Given the description of an element on the screen output the (x, y) to click on. 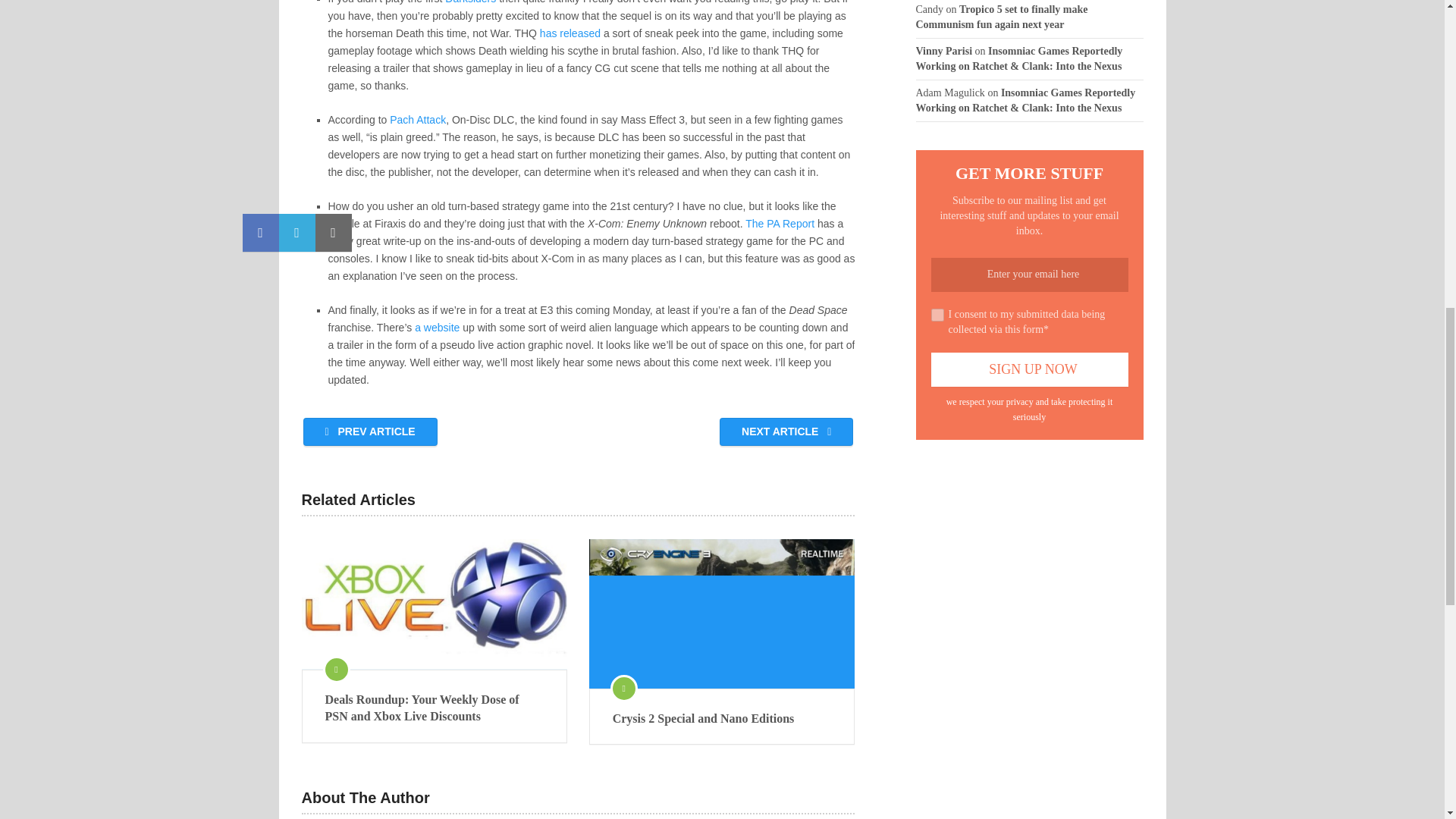
has released (569, 33)
Darksiders (470, 2)
Sign Up Now (1029, 368)
The PA Report (779, 223)
on (937, 314)
Crysis 2 Special and Nano Editions (721, 718)
Crysis 2 Special and Nano Editions (721, 613)
Pach Attack (417, 119)
a website (437, 327)
